Given the description of an element on the screen output the (x, y) to click on. 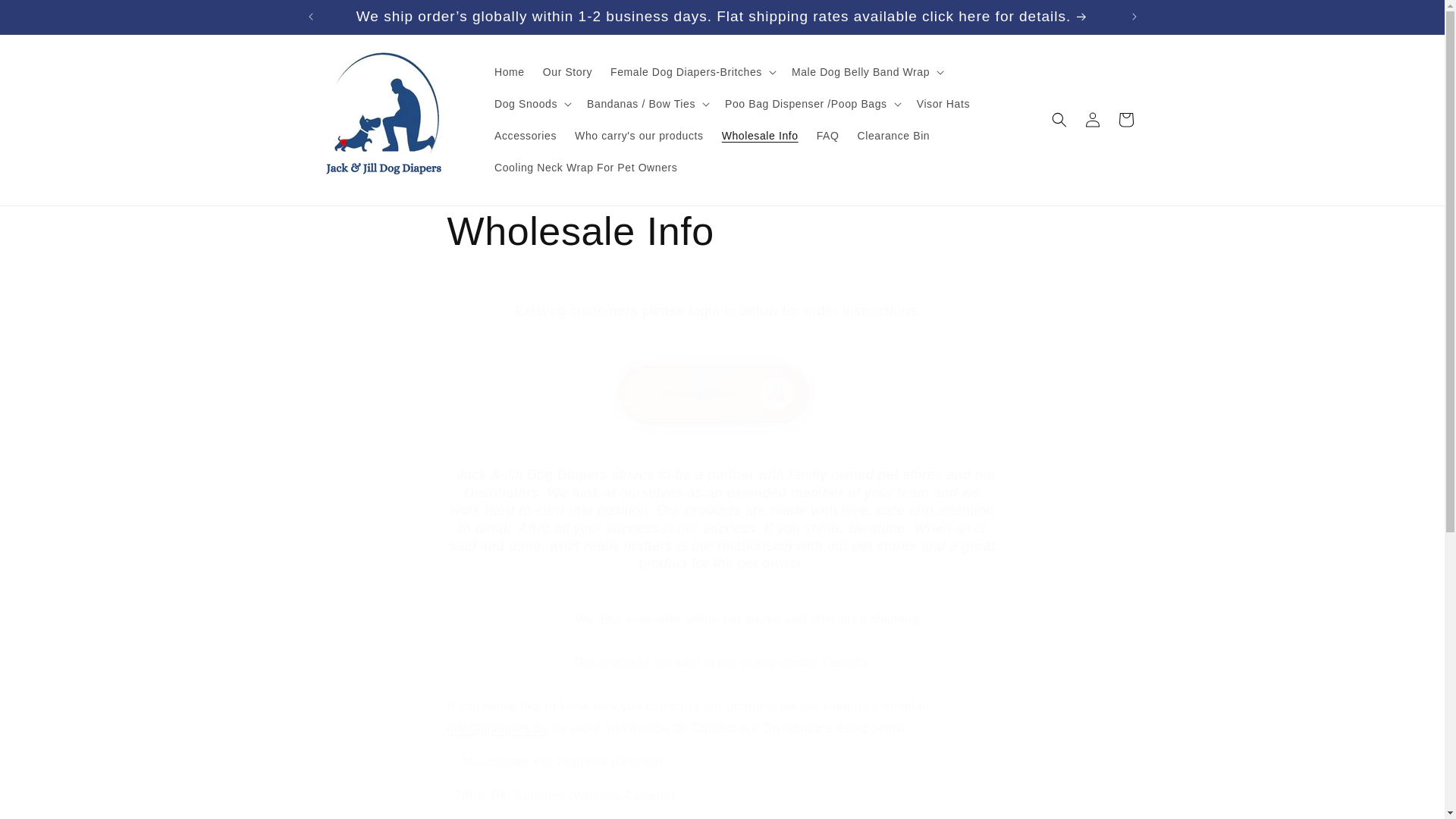
Wholesale Info (721, 231)
email (498, 727)
Order login (721, 457)
Skip to content (45, 17)
